Given the description of an element on the screen output the (x, y) to click on. 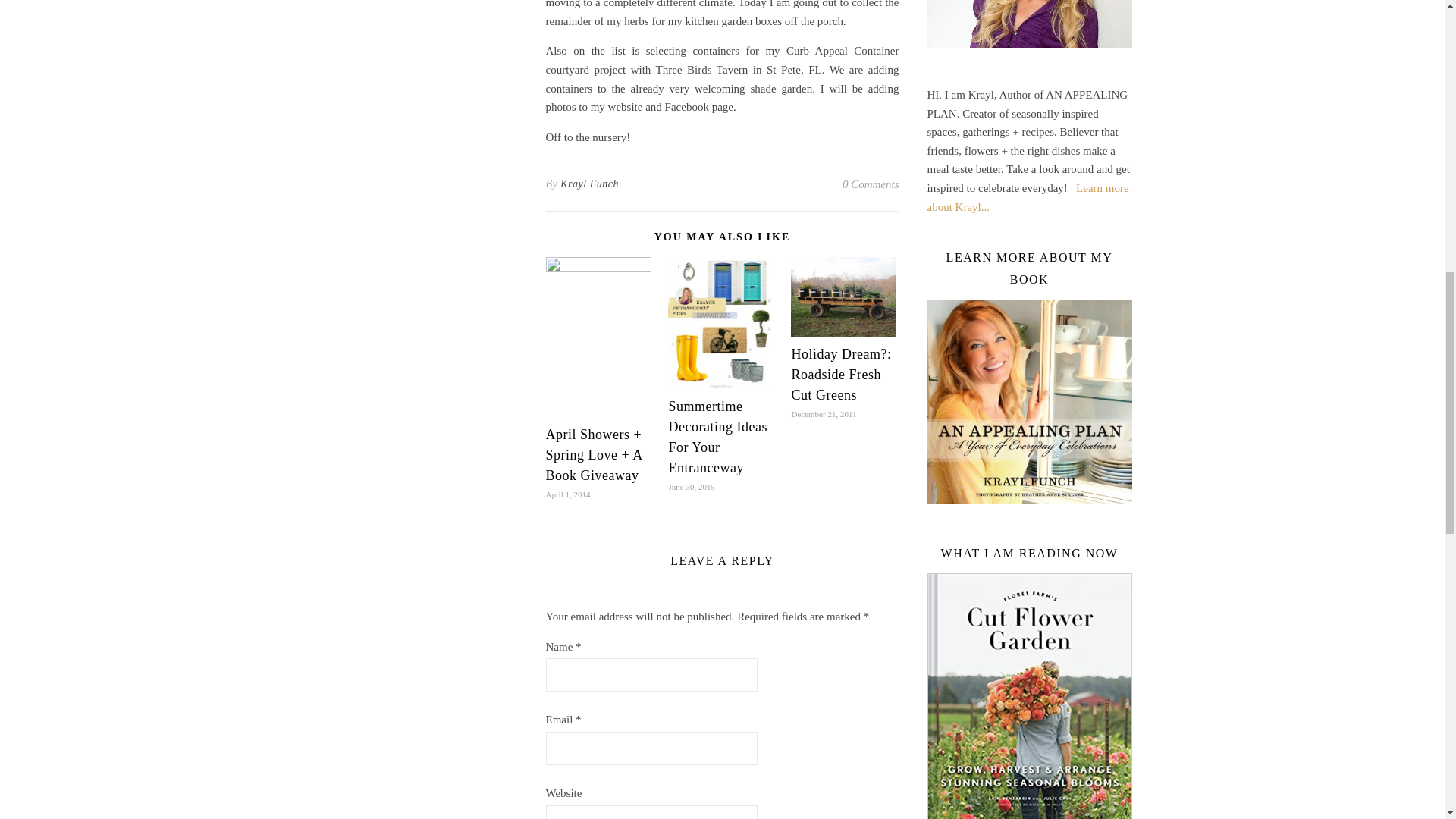
TEAM (1027, 196)
Posts by Krayl Funch (589, 183)
